Given the description of an element on the screen output the (x, y) to click on. 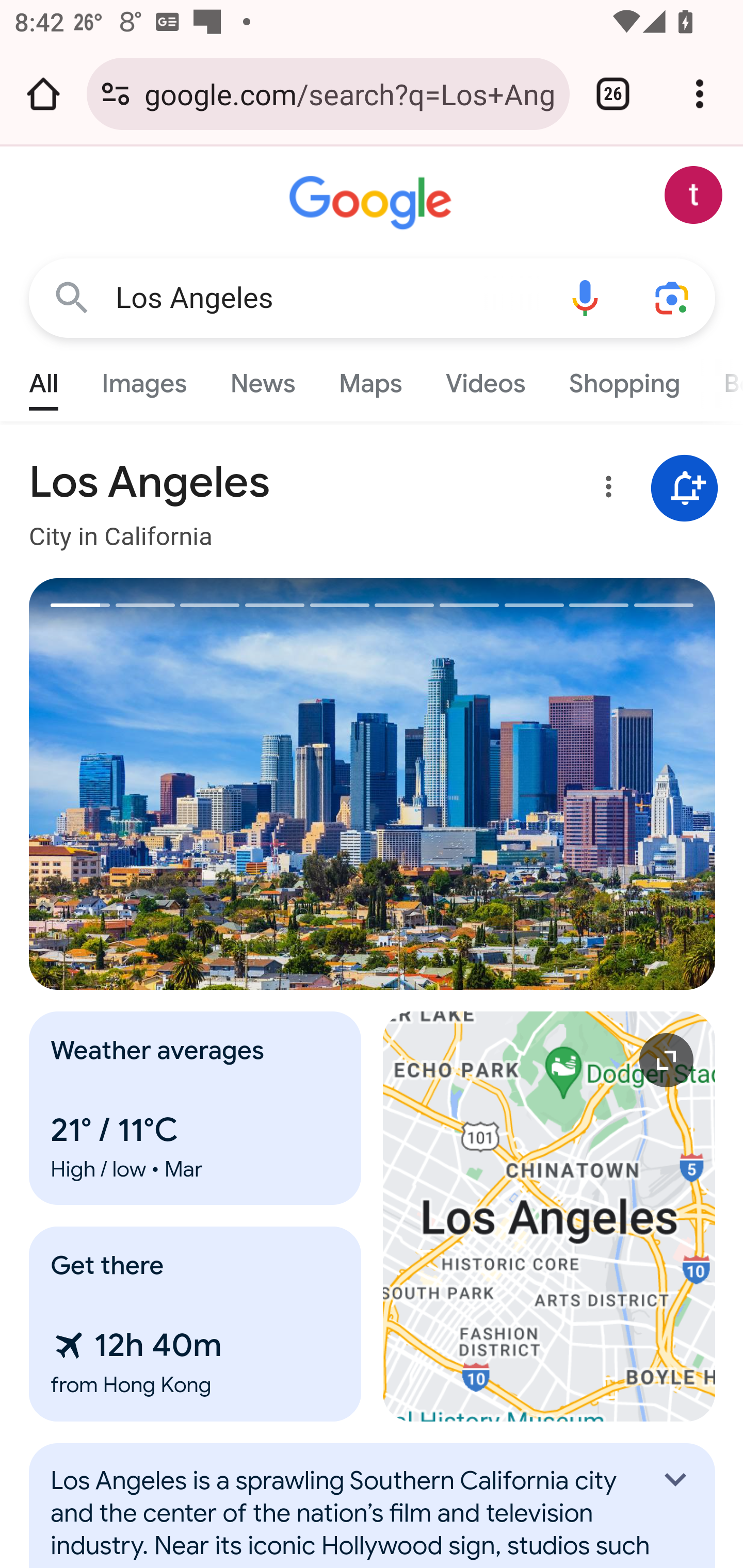
Open the home page (43, 93)
Connection is secure (115, 93)
Switch or close tabs (612, 93)
Customize and control Google Chrome (699, 93)
Google (372, 203)
Google Search (71, 296)
Search using your camera or photos (672, 296)
Los Angeles (328, 297)
Images (144, 378)
News (262, 378)
Maps (369, 378)
Videos (485, 378)
Shopping (623, 378)
Get notifications about Los Angeles (684, 489)
More options (605, 489)
Weather averages 21° / 11°C High / low • Mar (195, 1108)
Expand map (549, 1216)
